Given the description of an element on the screen output the (x, y) to click on. 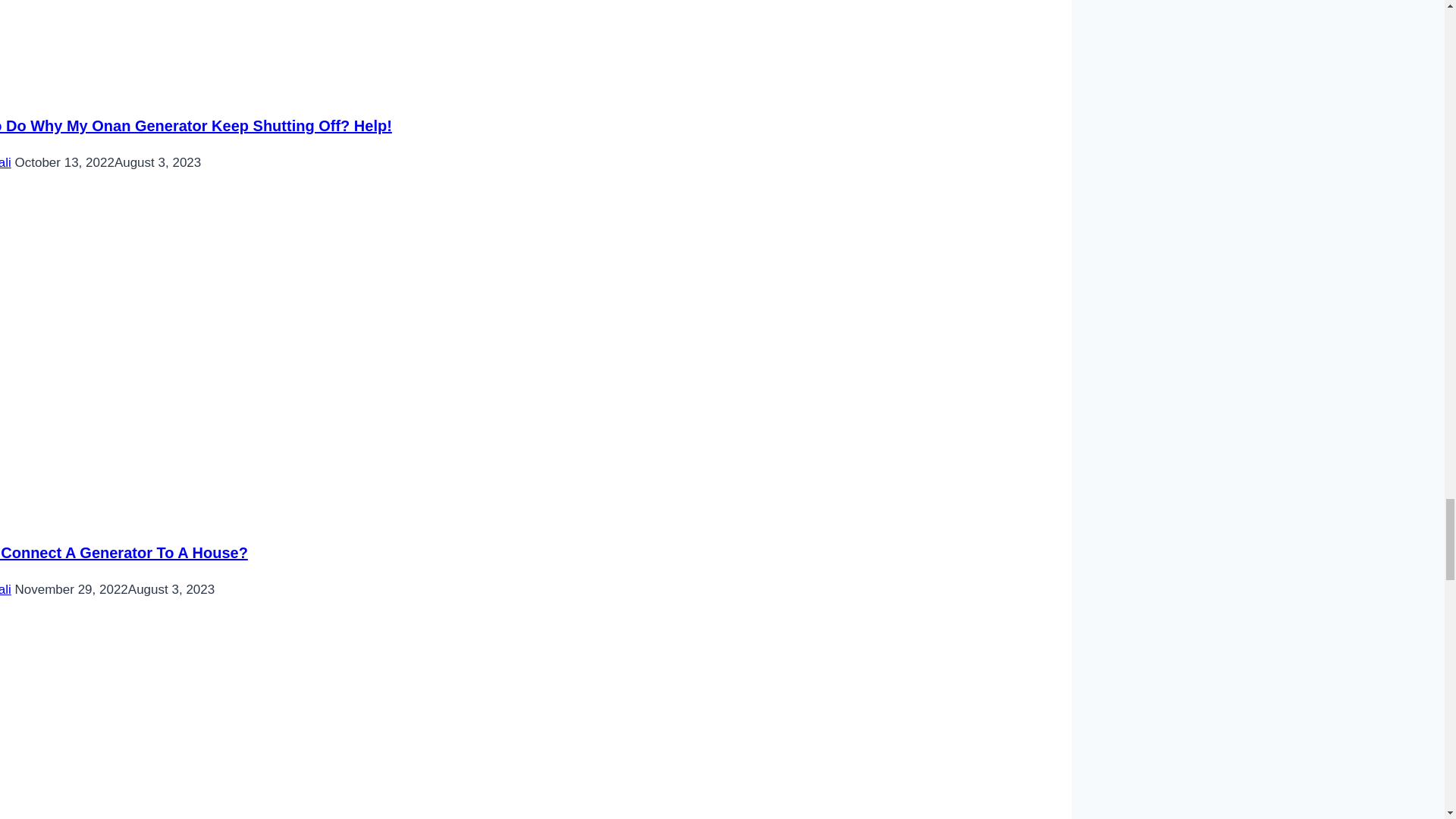
misajidali (5, 162)
How To Connect A Generator To A House? (123, 552)
Do I Need To Ground My Generator? (250, 721)
What To Do Why My Onan Generator Keep Shutting Off? Help! (250, 37)
misajidali (5, 589)
What To Do Why My Onan Generator Keep Shutting Off? Help! (195, 125)
